Given the description of an element on the screen output the (x, y) to click on. 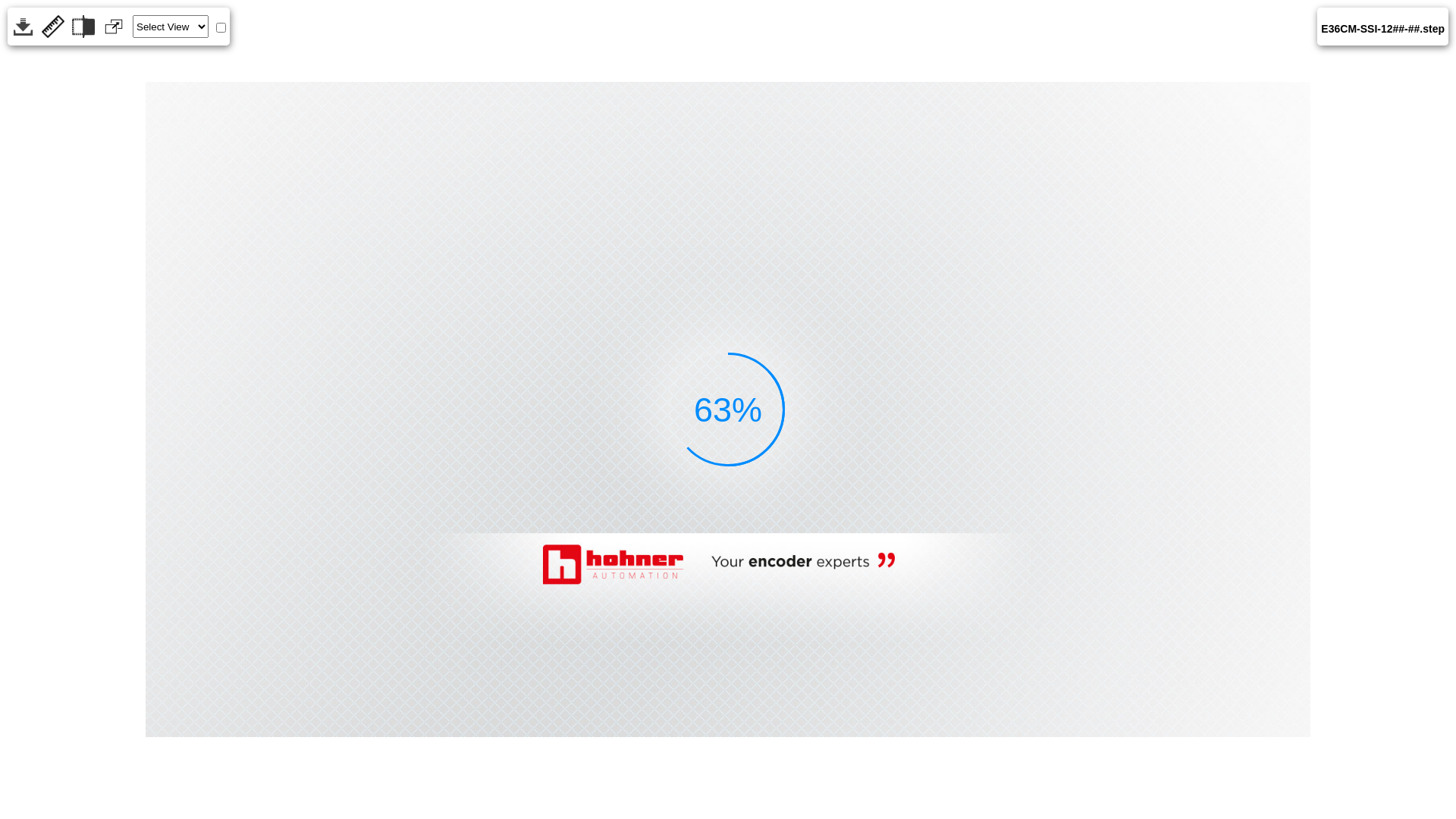
Show/Hide section options Element type: hover (83, 26)
Measure Element type: hover (52, 26)
Download Element type: hover (22, 26)
Full Screen Element type: hover (113, 26)
Show Reference System Element type: hover (220, 27)
